Given the description of an element on the screen output the (x, y) to click on. 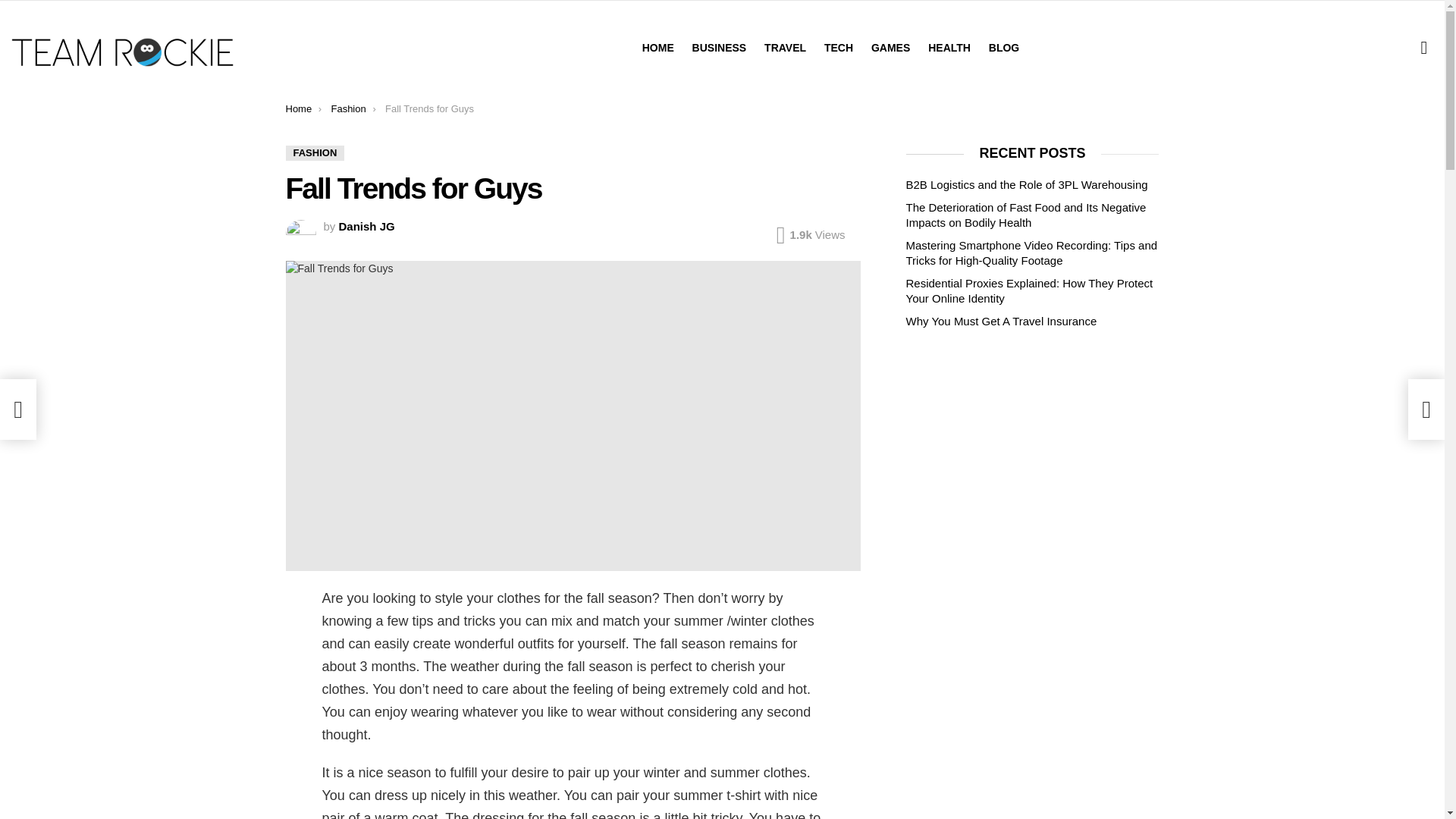
BLOG (1003, 47)
TRAVEL (785, 47)
Fashion (347, 108)
HEALTH (949, 47)
FASHION (314, 152)
Home (298, 108)
HOME (657, 47)
Danish JG (366, 226)
GAMES (890, 47)
TECH (838, 47)
BUSINESS (719, 47)
Posts by Danish JG (366, 226)
